Given the description of an element on the screen output the (x, y) to click on. 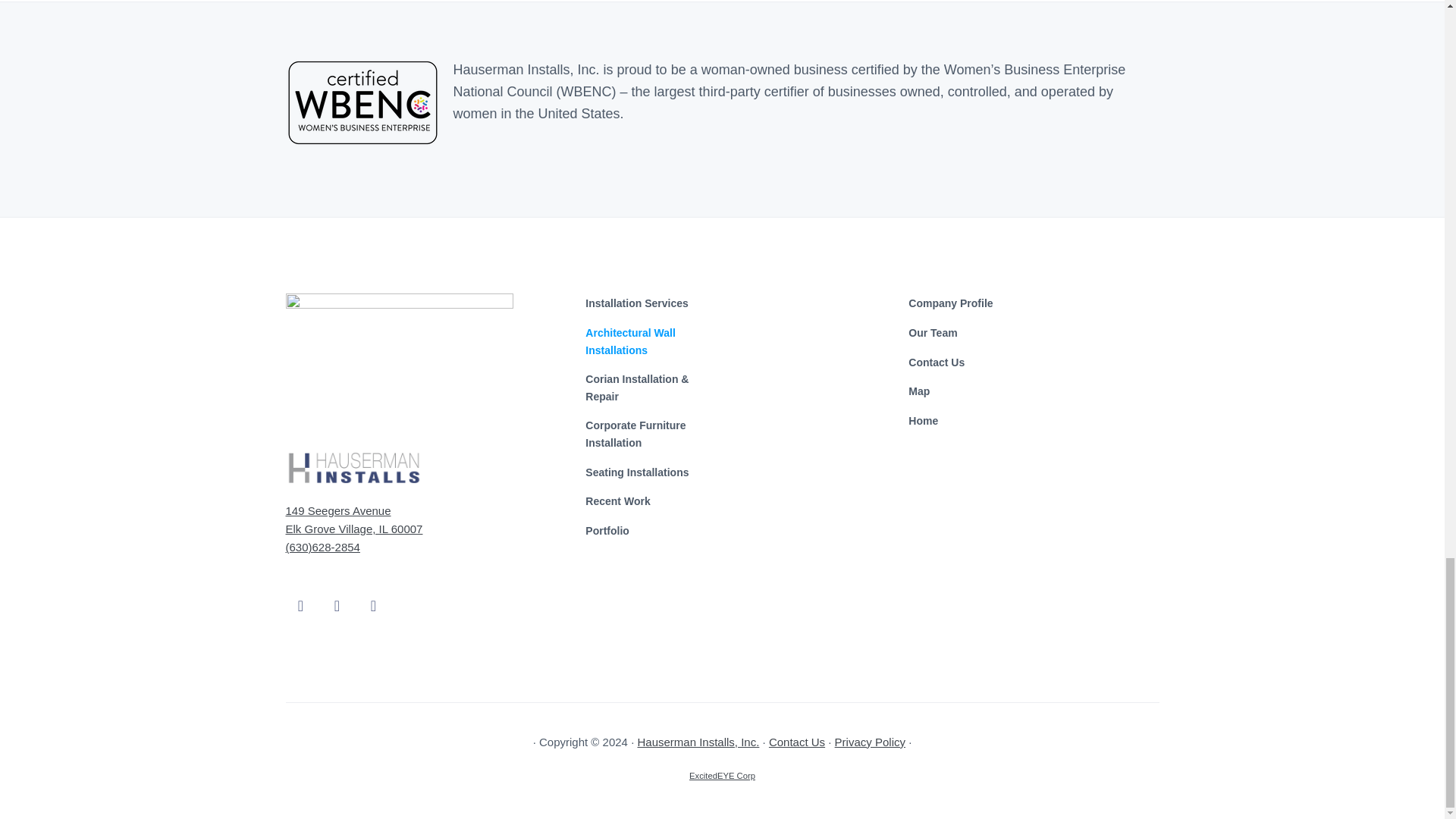
LinkedIn (373, 593)
Facebook (300, 593)
Instagram (336, 593)
